Given the description of an element on the screen output the (x, y) to click on. 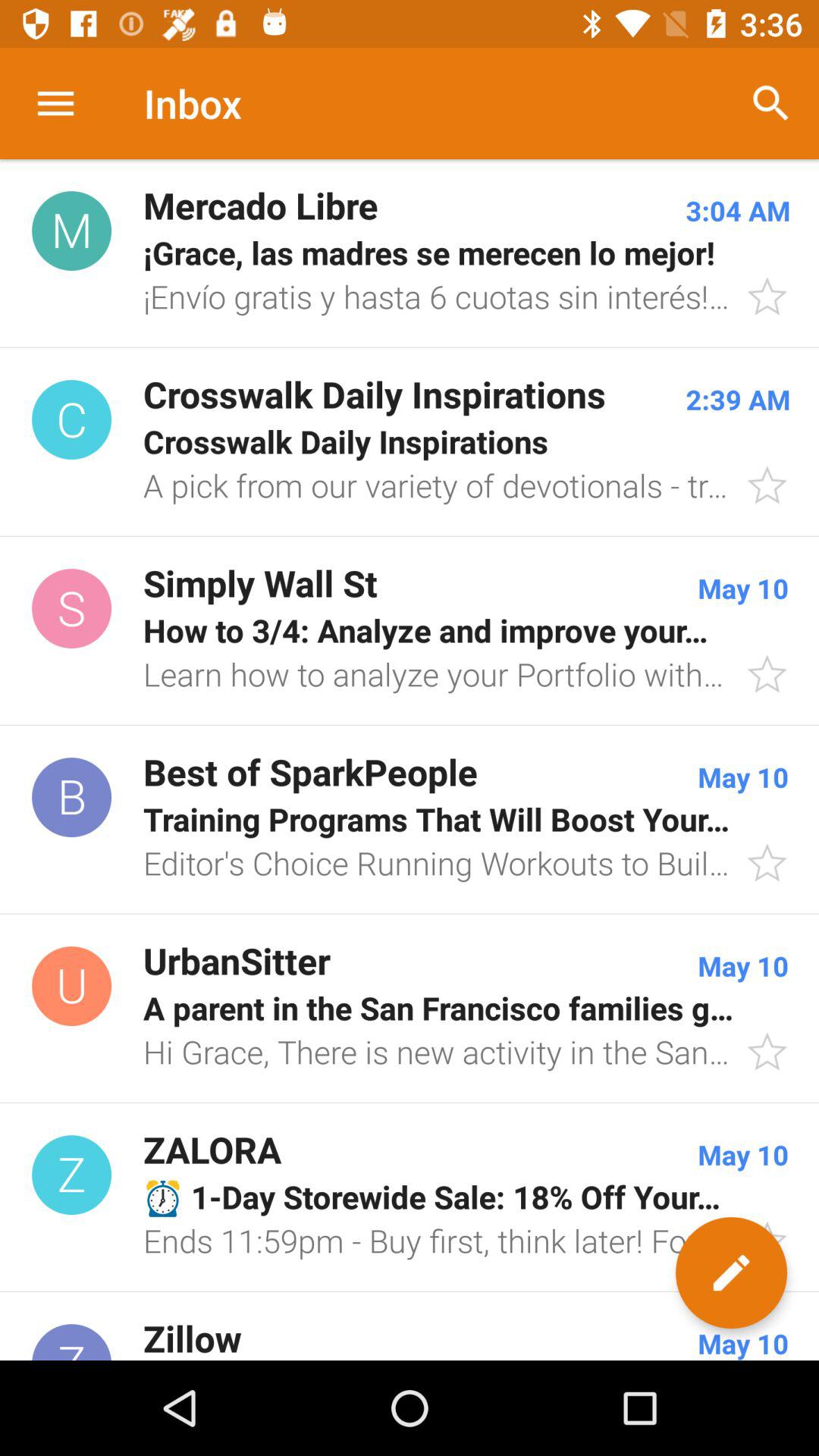
press the icon next to inbox app (771, 103)
